Given the description of an element on the screen output the (x, y) to click on. 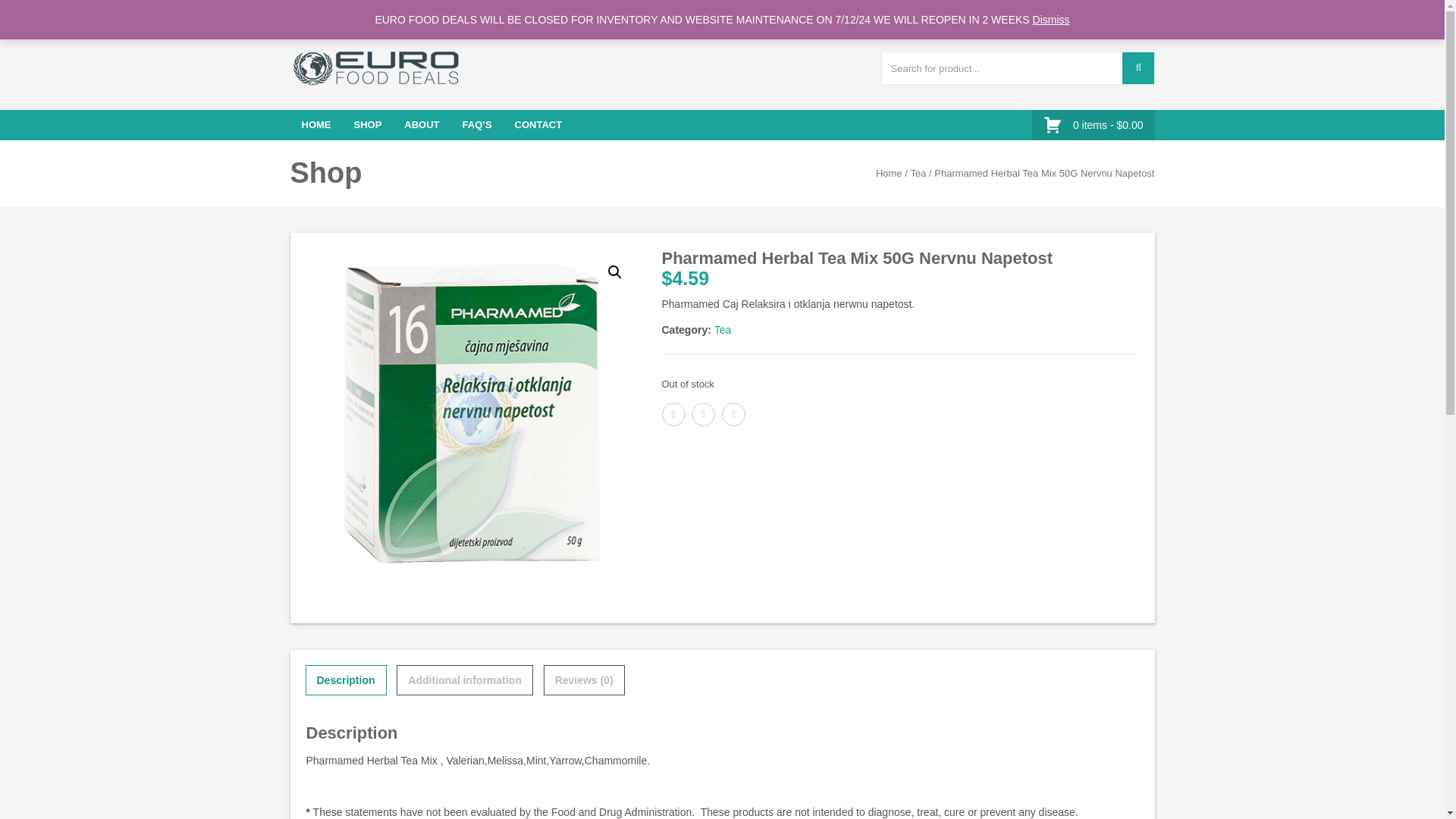
Share on Facebook (672, 413)
HOME (315, 124)
Register (1044, 13)
SHOP (367, 124)
Additional information (464, 679)
Cart (1140, 13)
FAQ's (477, 124)
Contact (538, 124)
Shop (367, 124)
Tea (723, 329)
